Given the description of an element on the screen output the (x, y) to click on. 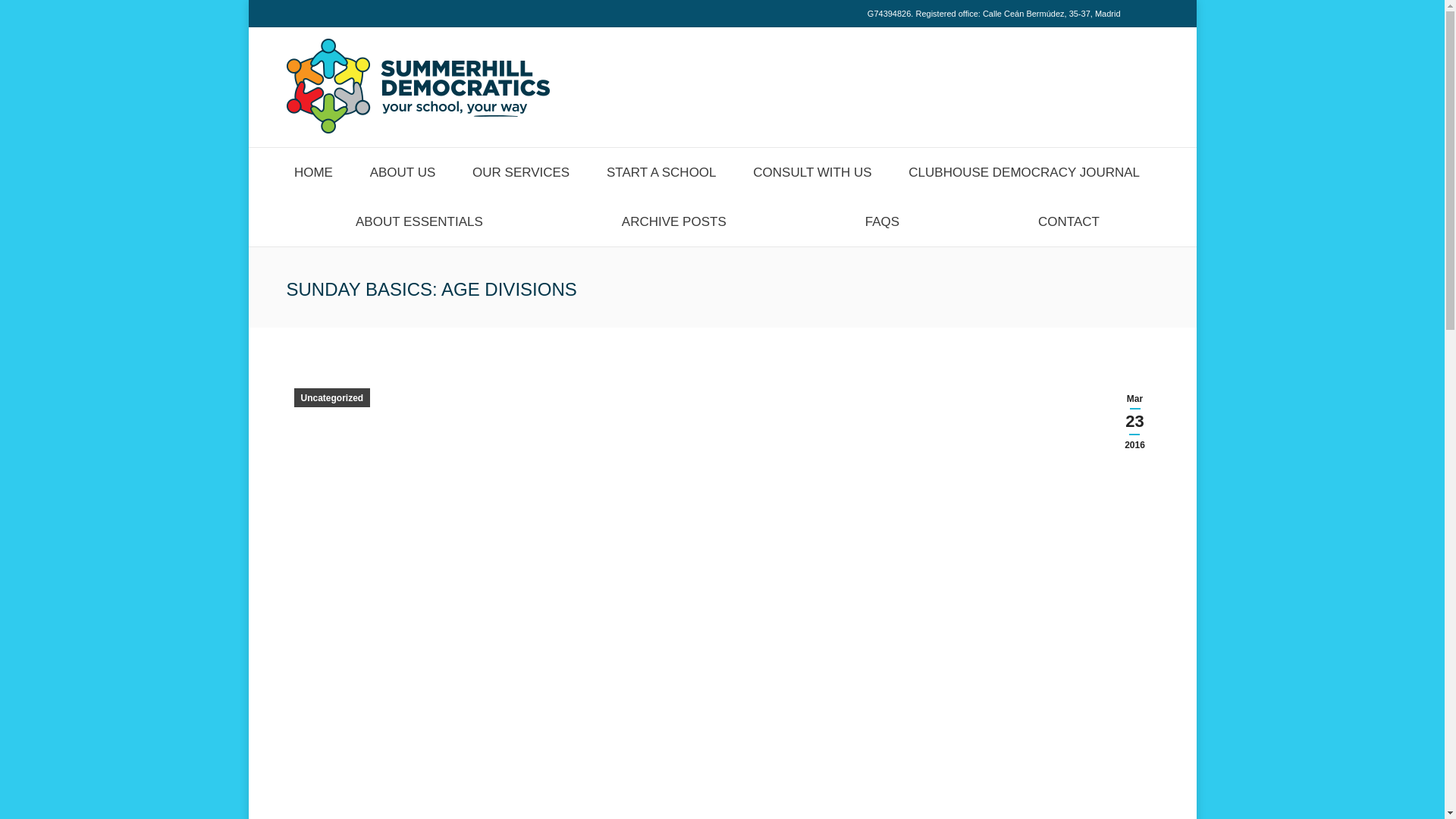
OUR SERVICES (521, 172)
Uncategorized (332, 397)
CONSULT WITH US (812, 172)
ABOUT ESSENTIALS (419, 221)
CLUBHOUSE DEMOCRACY JOURNAL (1024, 172)
HOME (313, 172)
ABOUT US (401, 172)
CONTACT (1068, 221)
ARCHIVE POSTS (673, 221)
START A SCHOOL (660, 172)
